Given the description of an element on the screen output the (x, y) to click on. 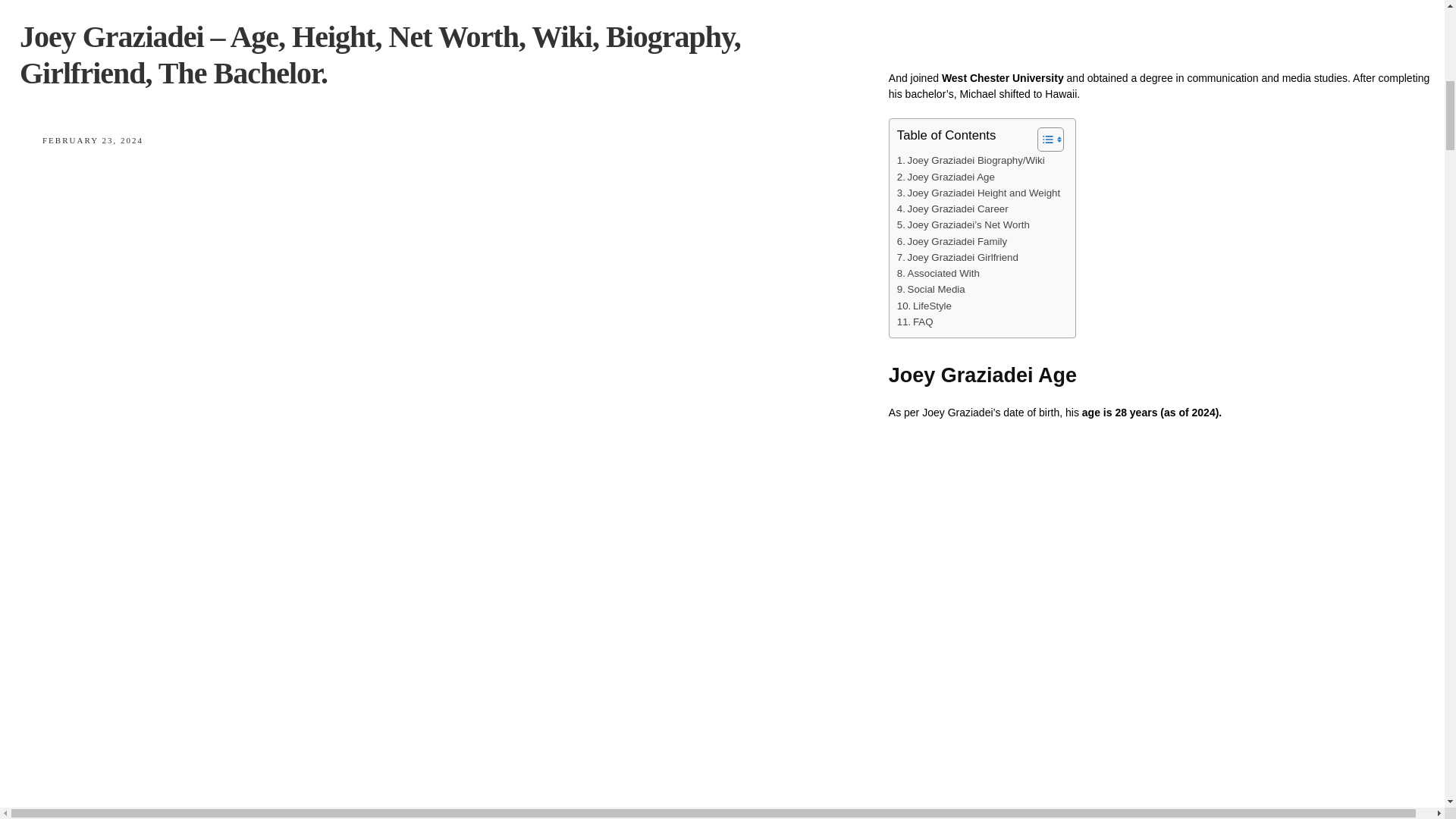
Social Media (930, 289)
LifeStyle (924, 305)
Joey Graziadei Family (951, 241)
Associated With (937, 273)
FAQ (914, 321)
Joey Graziadei Girlfriend (956, 257)
Joey Graziadei Height and Weight (977, 192)
